Given the description of an element on the screen output the (x, y) to click on. 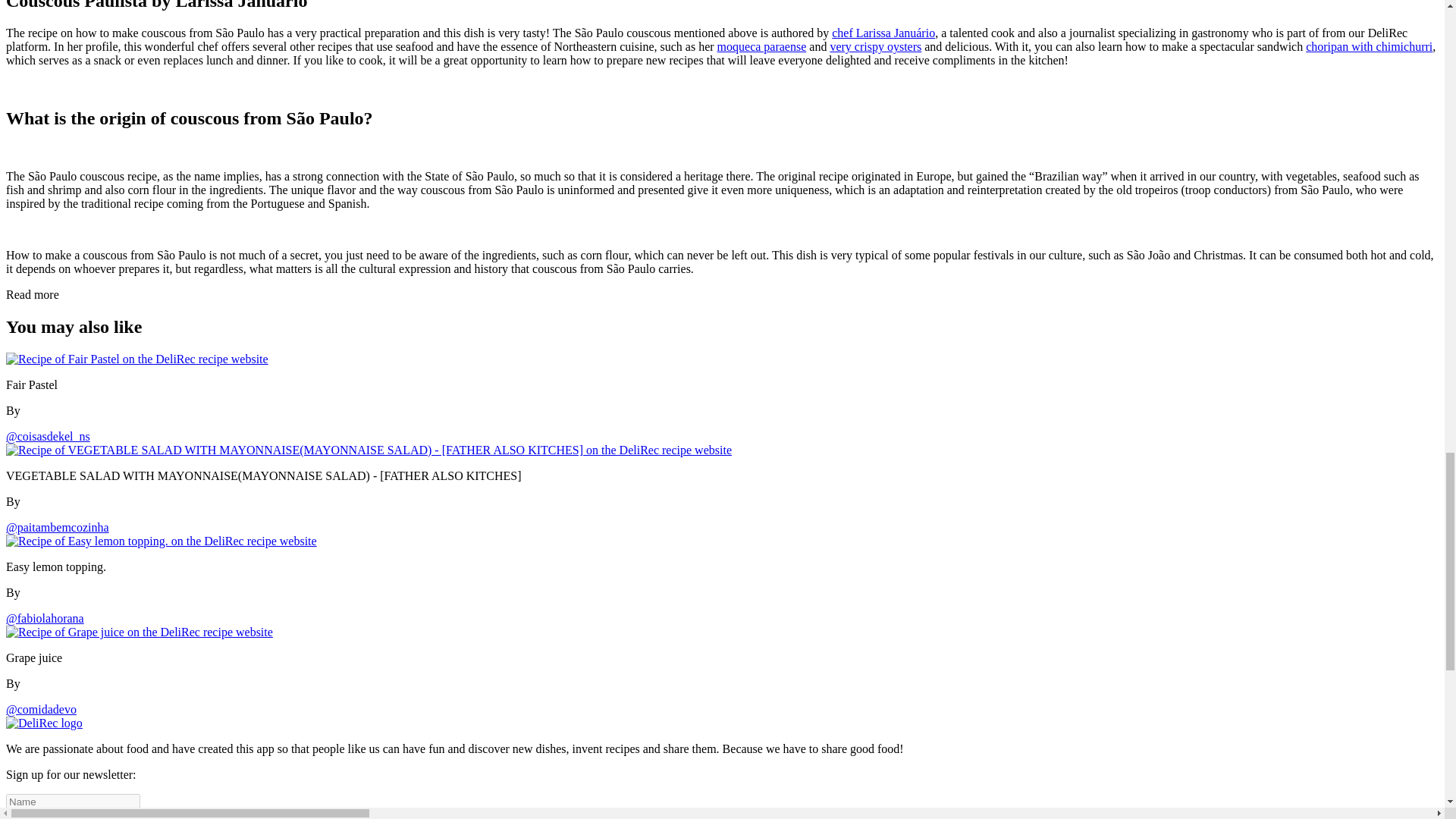
very crispy oysters (875, 46)
moqueca paraense (761, 46)
choripan with chimichurri (1369, 46)
